Given the description of an element on the screen output the (x, y) to click on. 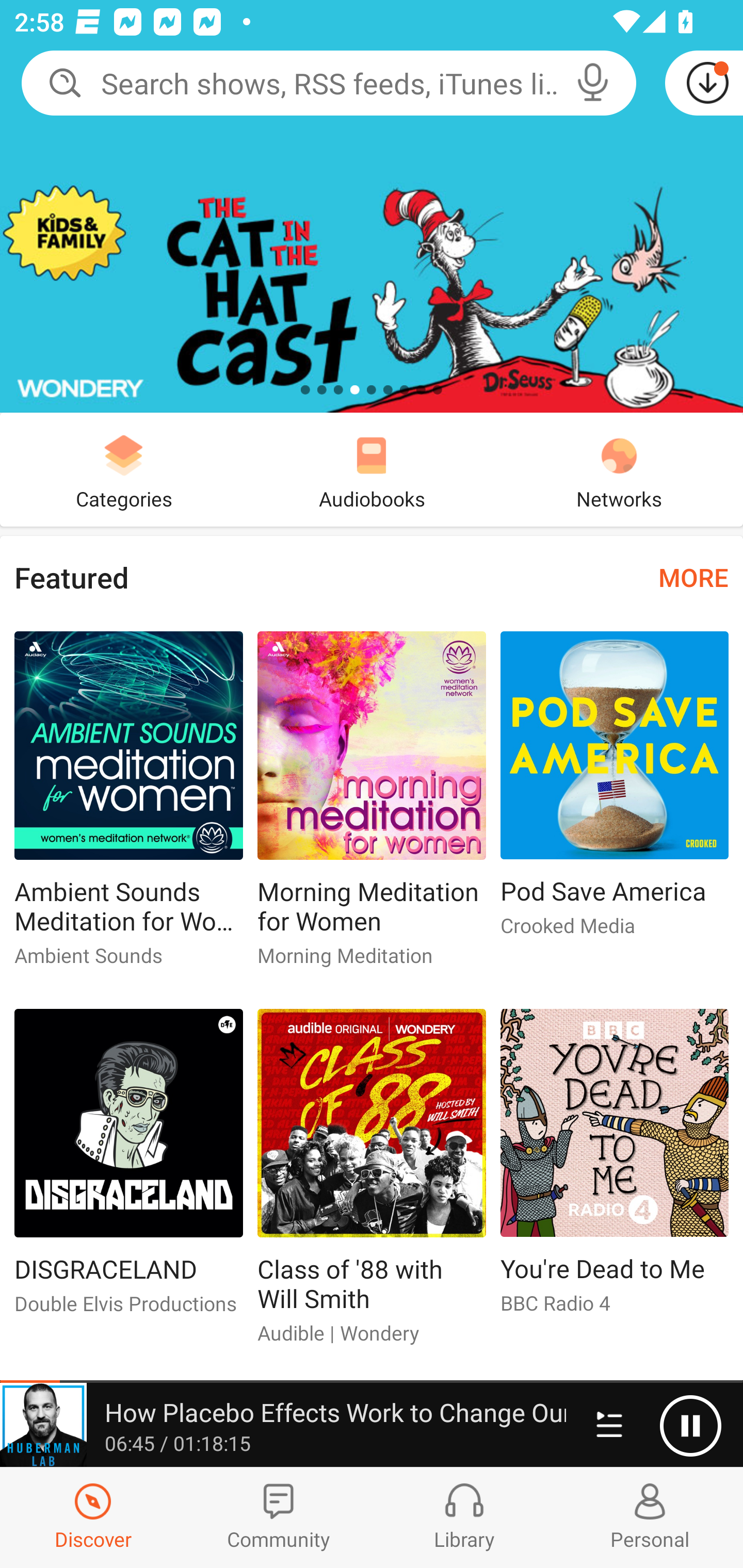
The Cat In The Hat Cast (371, 206)
Categories (123, 469)
Audiobooks (371, 469)
Networks (619, 469)
MORE (693, 576)
Pod Save America Pod Save America Crooked Media (614, 792)
DISGRACELAND DISGRACELAND Double Elvis Productions (128, 1169)
You're Dead to Me You're Dead to Me BBC Radio 4 (614, 1169)
Pause (690, 1425)
Discover (92, 1517)
Community (278, 1517)
Library (464, 1517)
Profiles and Settings Personal (650, 1517)
